Given the description of an element on the screen output the (x, y) to click on. 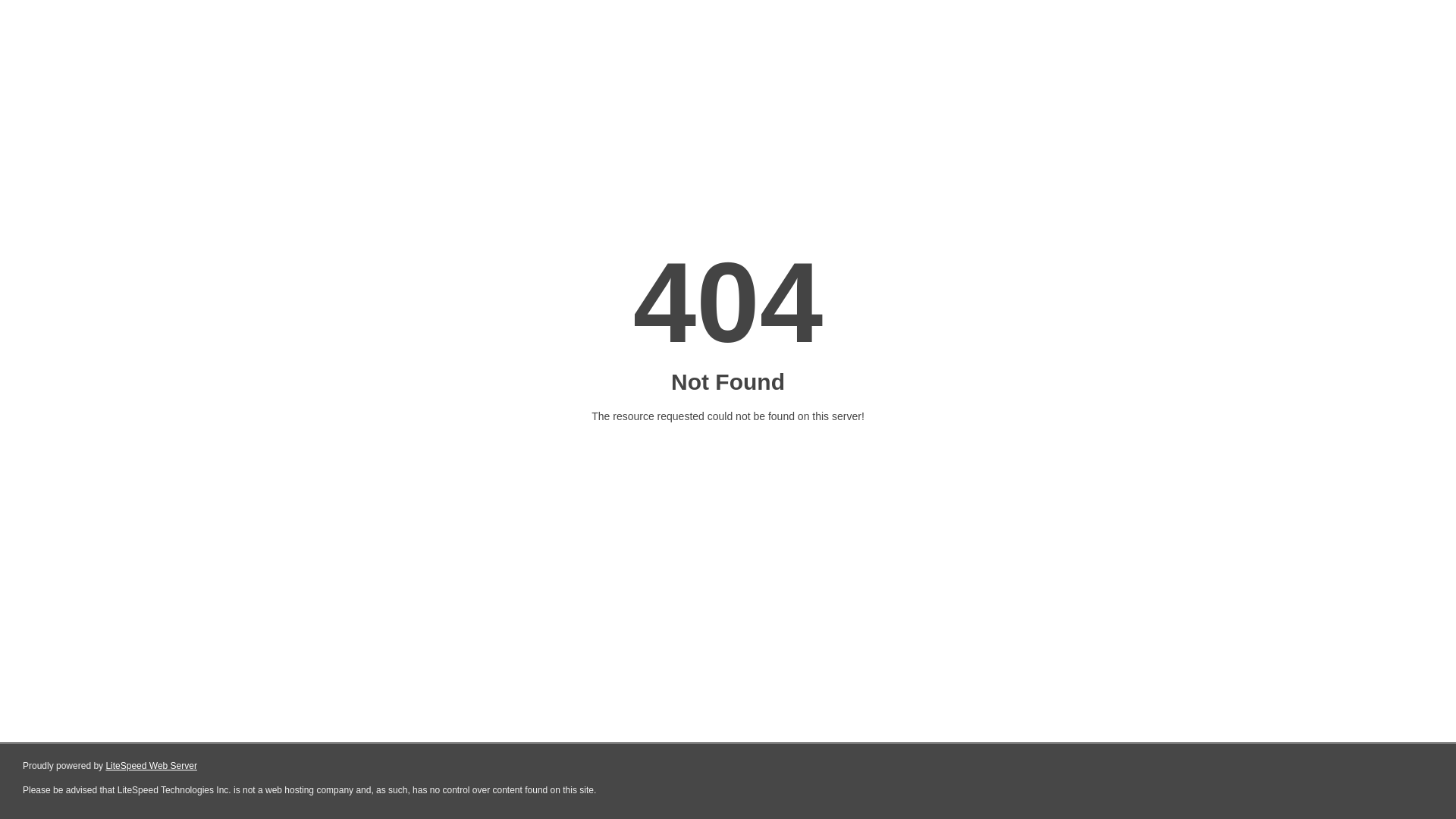
LiteSpeed Web Server Element type: text (151, 765)
